Given the description of an element on the screen output the (x, y) to click on. 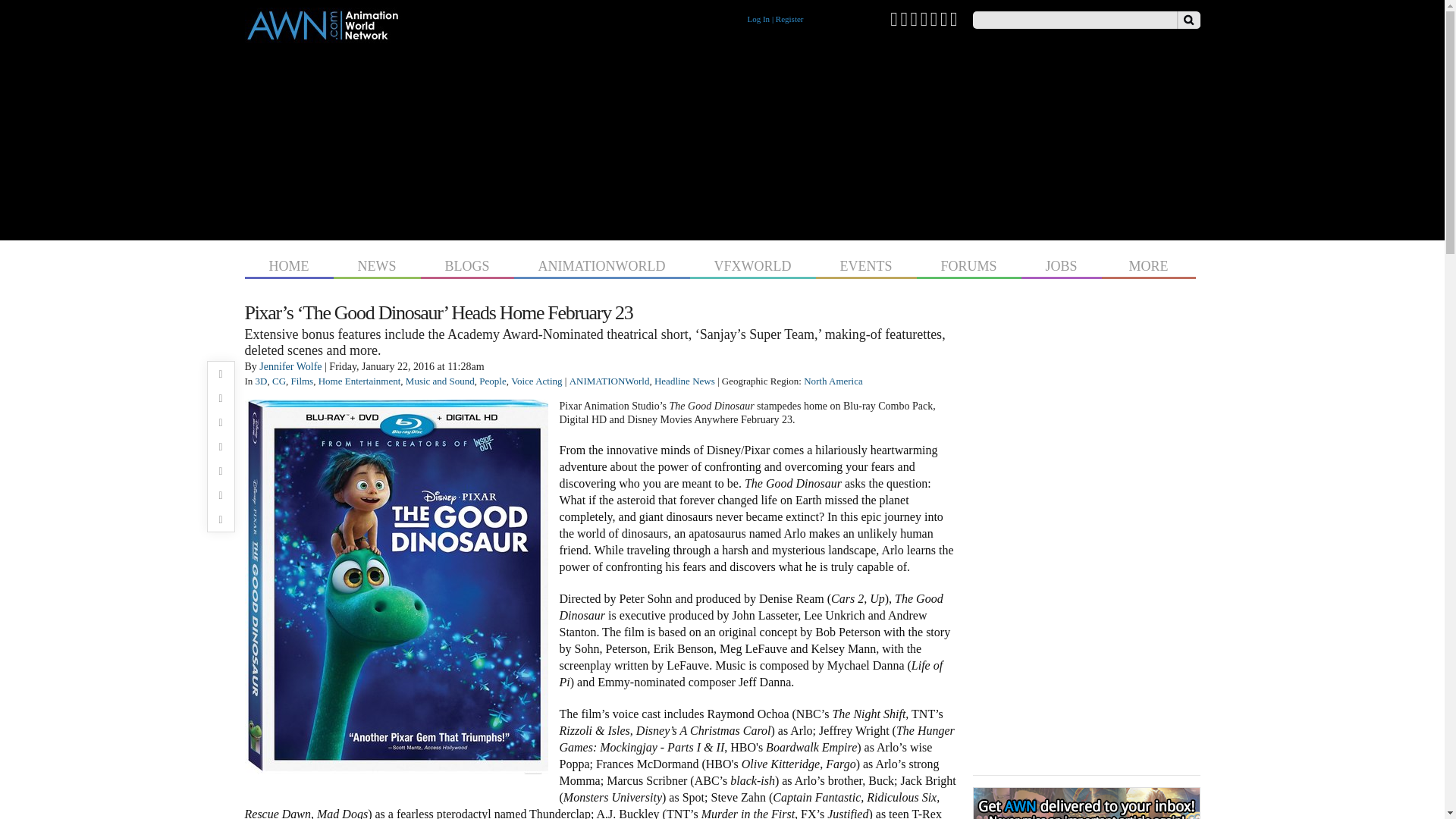
Visit AWN on Twitter (893, 18)
Jennifer Wolfe (290, 366)
BLOGS (466, 263)
VFXWORLD (752, 263)
Visit AWN on LinkedIn (933, 18)
NEWS (376, 263)
Music and Sound (440, 380)
Visit AWN on Twitter (893, 18)
HOME (288, 263)
3rd party ad content (722, 137)
Subscribe to AWN (954, 18)
Visit AWN on YouTube (913, 18)
People (492, 380)
Skip to main content (693, 1)
Visit AWN on Facebook (903, 18)
